Given the description of an element on the screen output the (x, y) to click on. 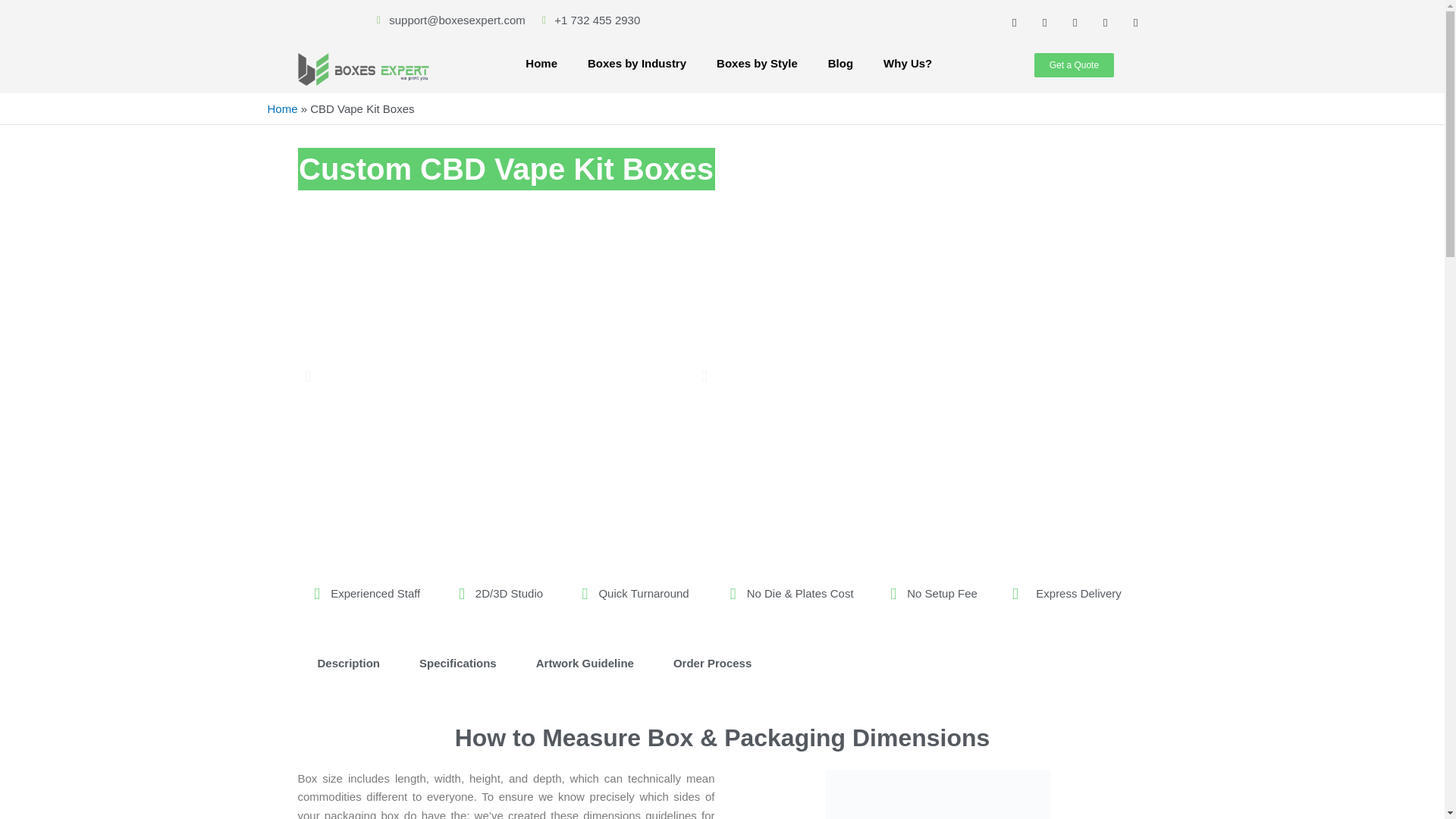
Home (541, 63)
Boxes by Industry (636, 63)
